Given the description of an element on the screen output the (x, y) to click on. 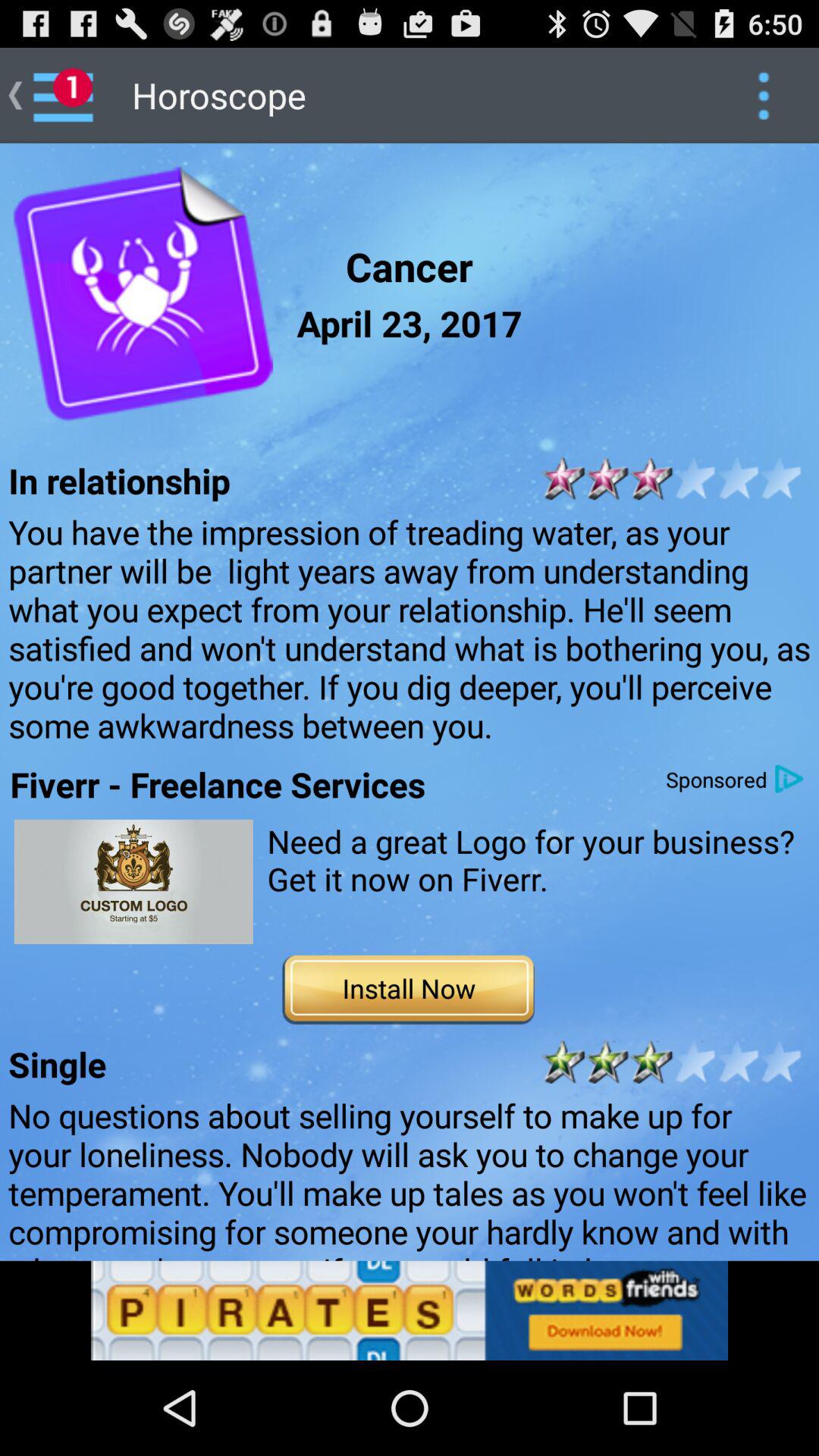
options button (763, 95)
